Given the description of an element on the screen output the (x, y) to click on. 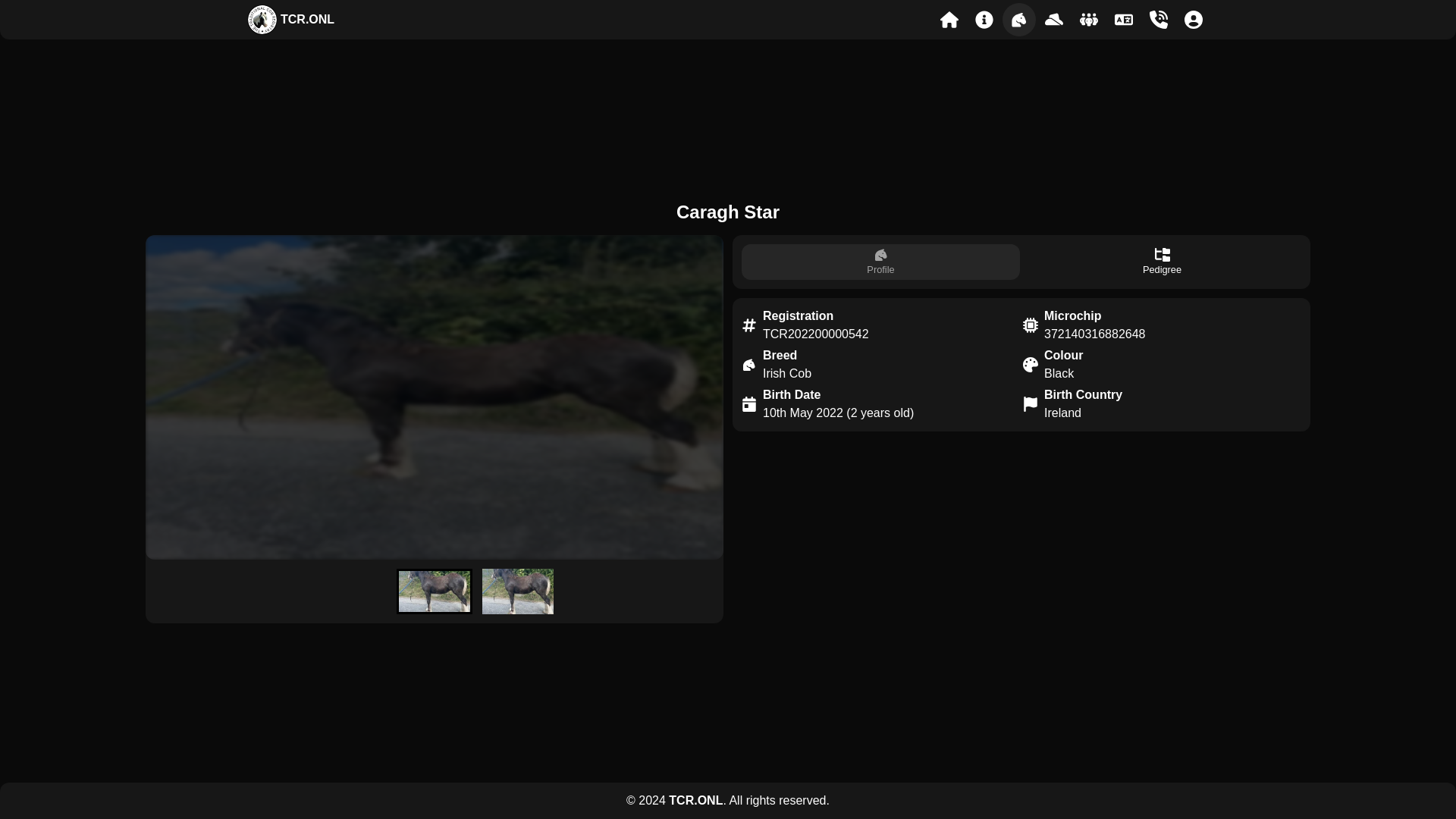
TCR.ONL (293, 19)
